Given the description of an element on the screen output the (x, y) to click on. 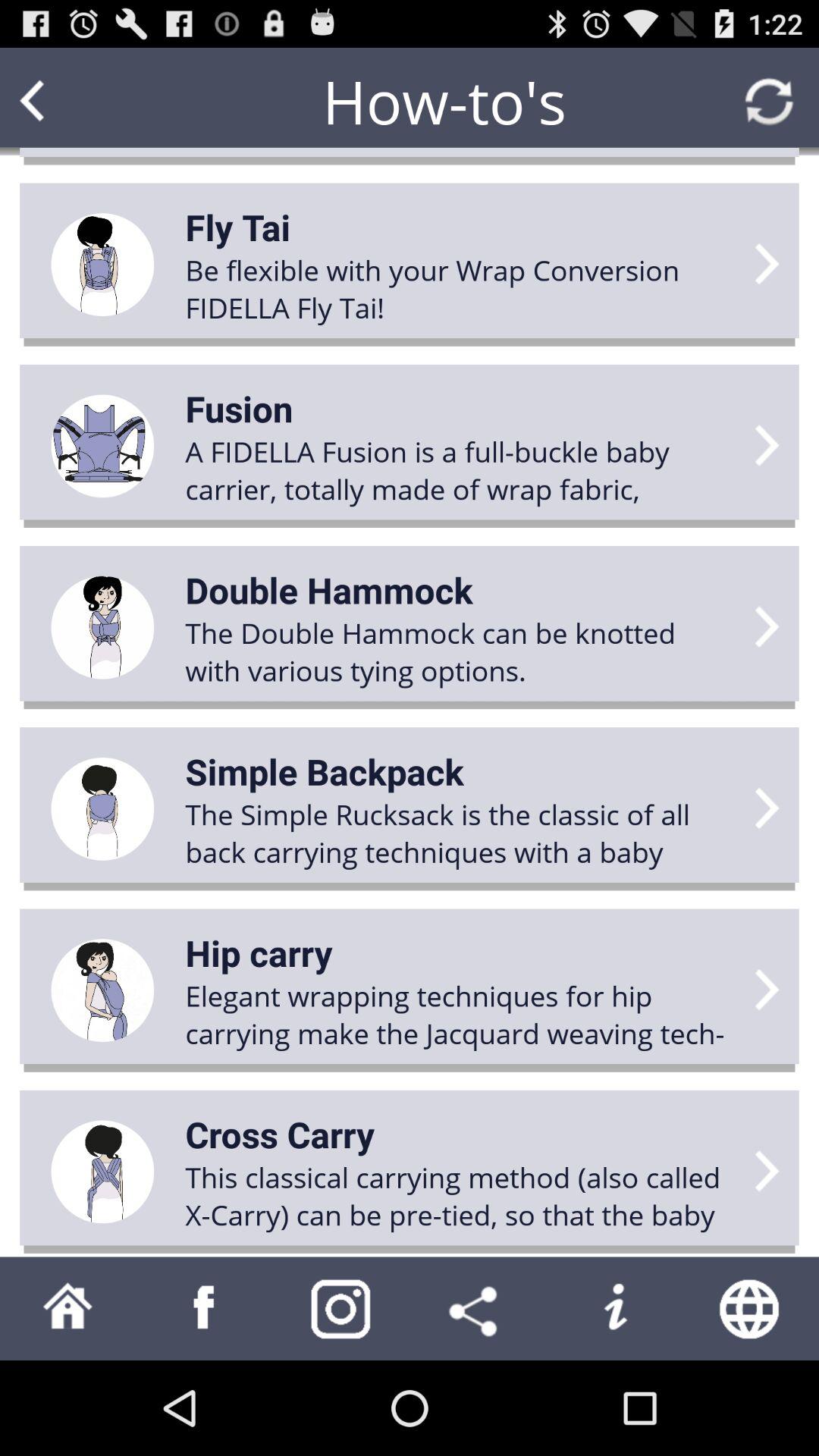
click the item below this classical carrying icon (750, 1308)
